Given the description of an element on the screen output the (x, y) to click on. 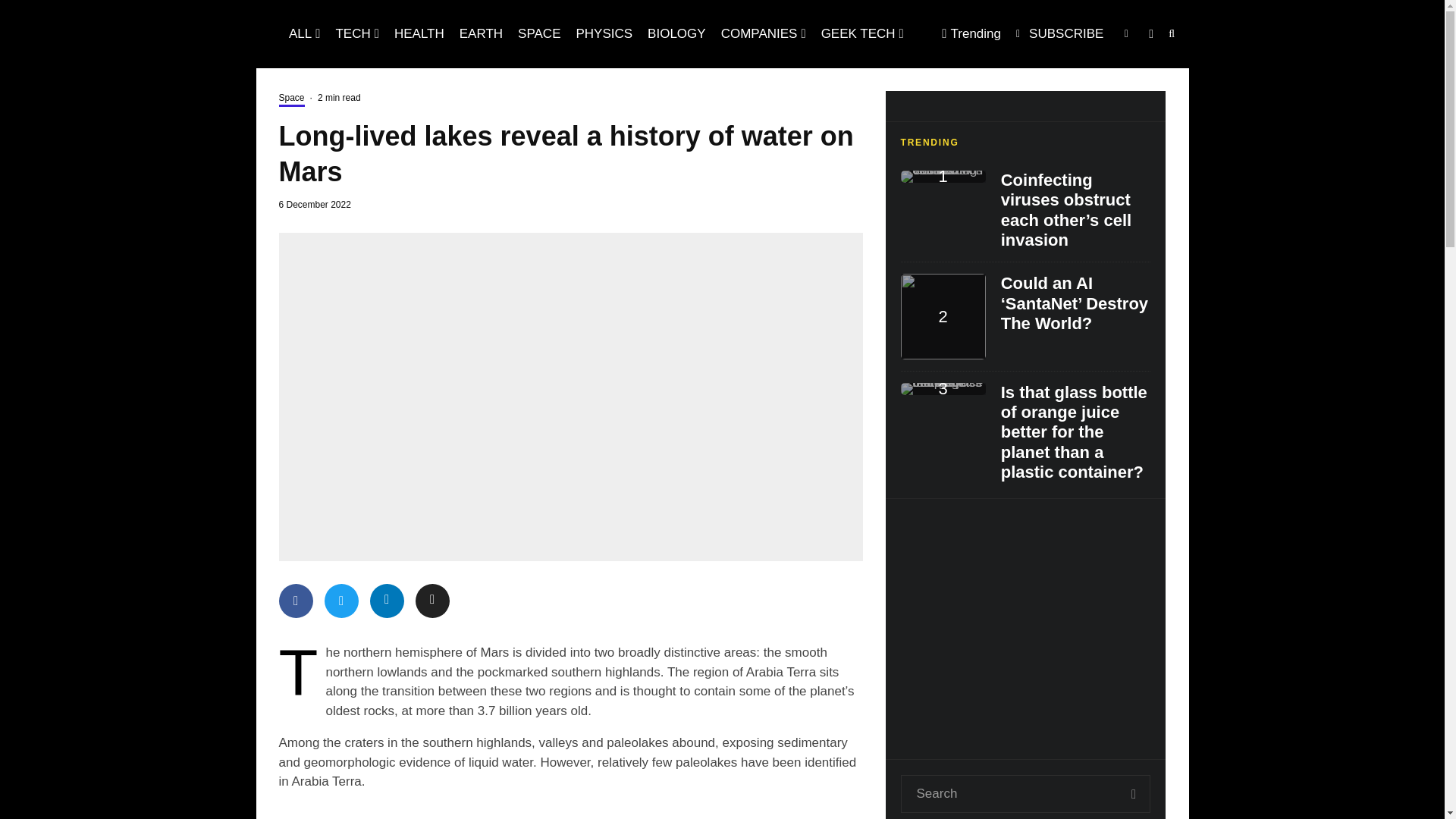
ALL (304, 33)
TECH (357, 33)
HEALTH (419, 33)
